Given the description of an element on the screen output the (x, y) to click on. 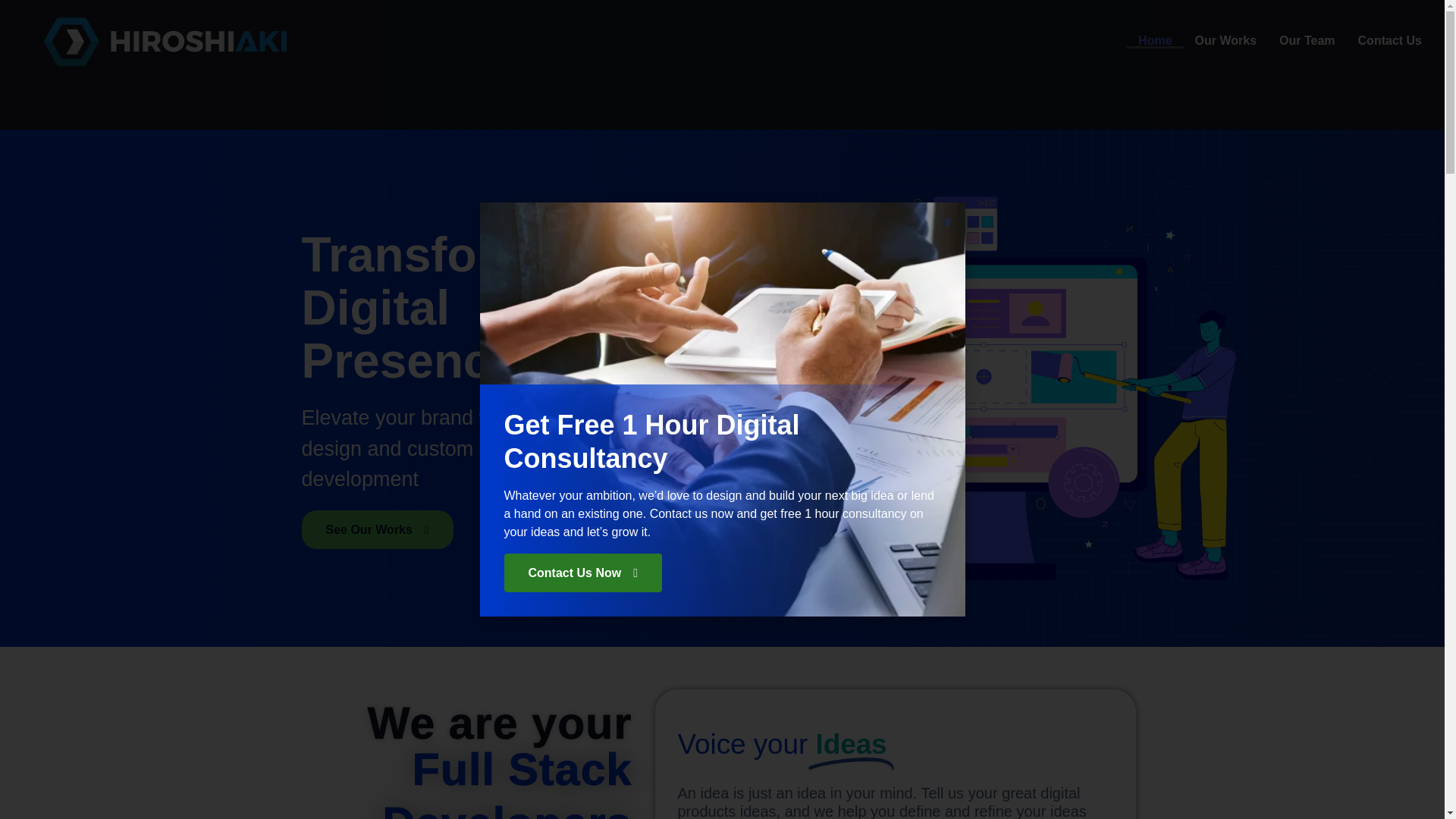
Contact Us (1389, 40)
Our Works (1225, 40)
Our Team (1307, 40)
See Our Works (376, 528)
Home (1154, 40)
